Given the description of an element on the screen output the (x, y) to click on. 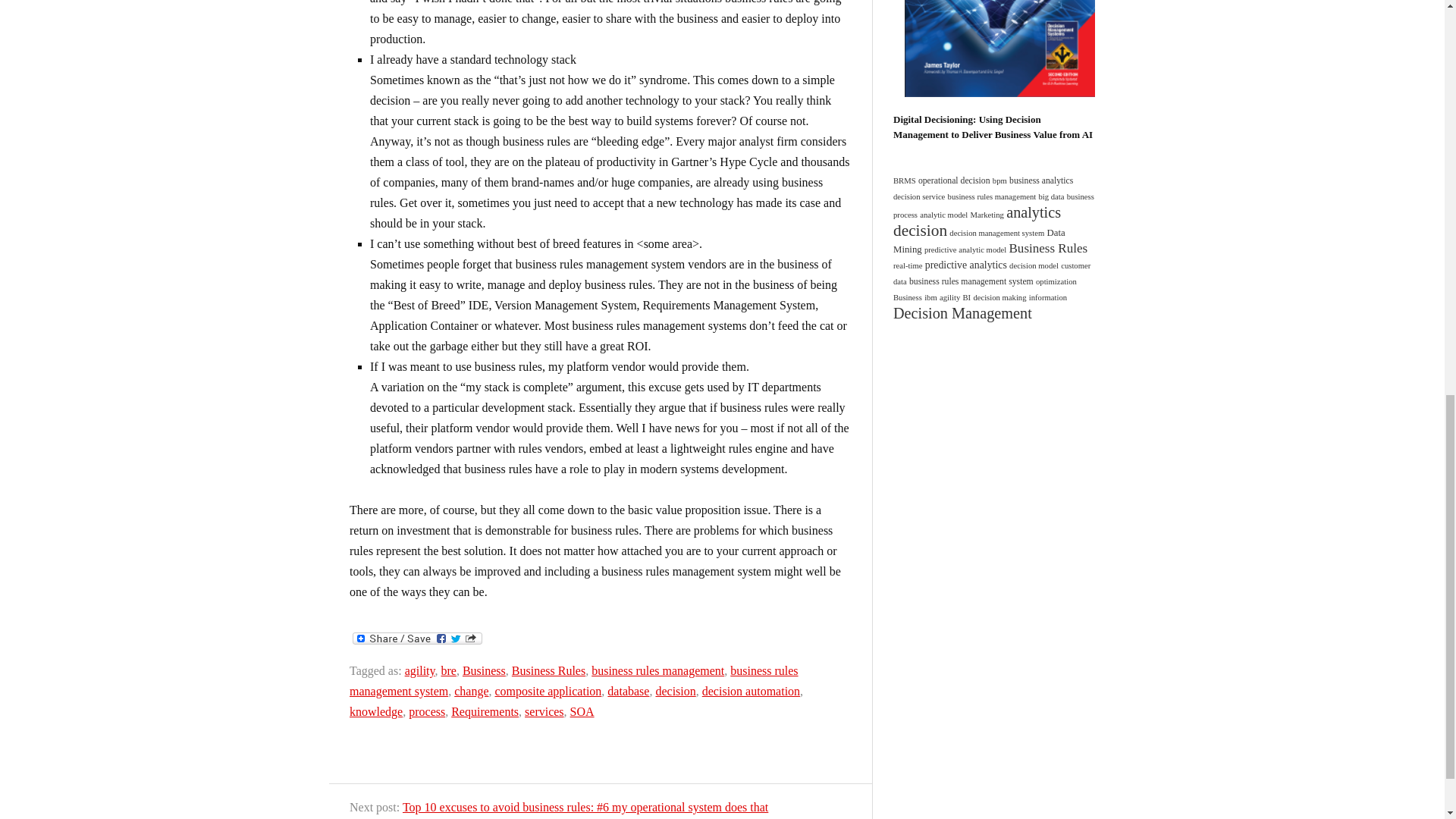
1399 topics (920, 230)
356 topics (954, 180)
business rules management (657, 670)
227 topics (991, 196)
SOA (582, 711)
agility (419, 670)
272 topics (993, 205)
services (544, 711)
442 topics (1041, 180)
267 topics (965, 249)
bre (448, 670)
Requirements (484, 711)
composite application (548, 690)
267 topics (996, 233)
269 topics (999, 180)
